Given the description of an element on the screen output the (x, y) to click on. 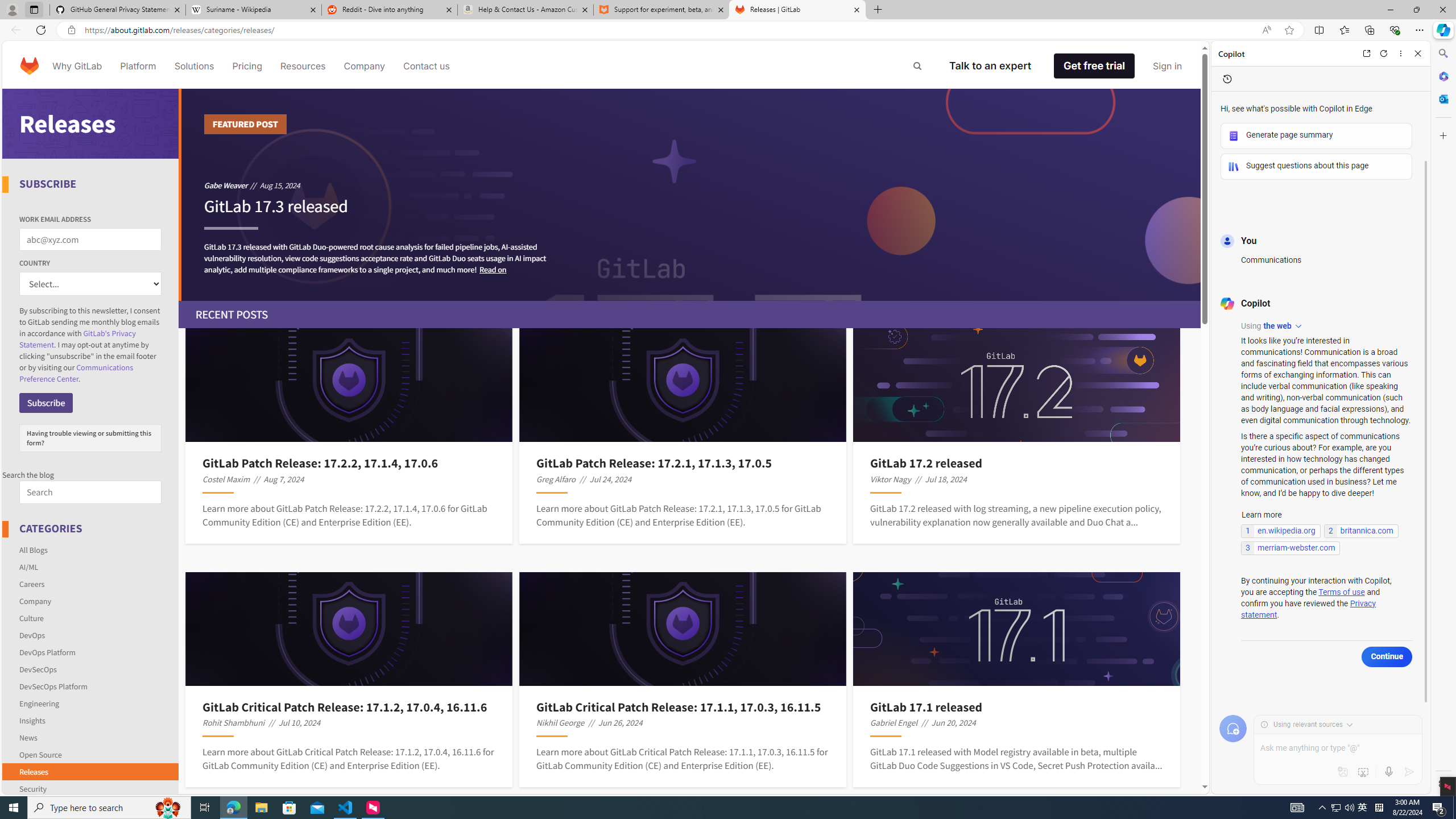
Solutions (193, 65)
Greg Alfaro (555, 478)
Subscribe (45, 402)
Engineering (38, 703)
WORK EMAIL ADDRESS (89, 239)
GitLab's Privacy Statement (76, 339)
Platform (138, 65)
Talk to an expert (990, 65)
Platform (138, 65)
DevOps Platform (46, 652)
DevOps (31, 635)
GitLab 17.2 released (1016, 463)
